Given the description of an element on the screen output the (x, y) to click on. 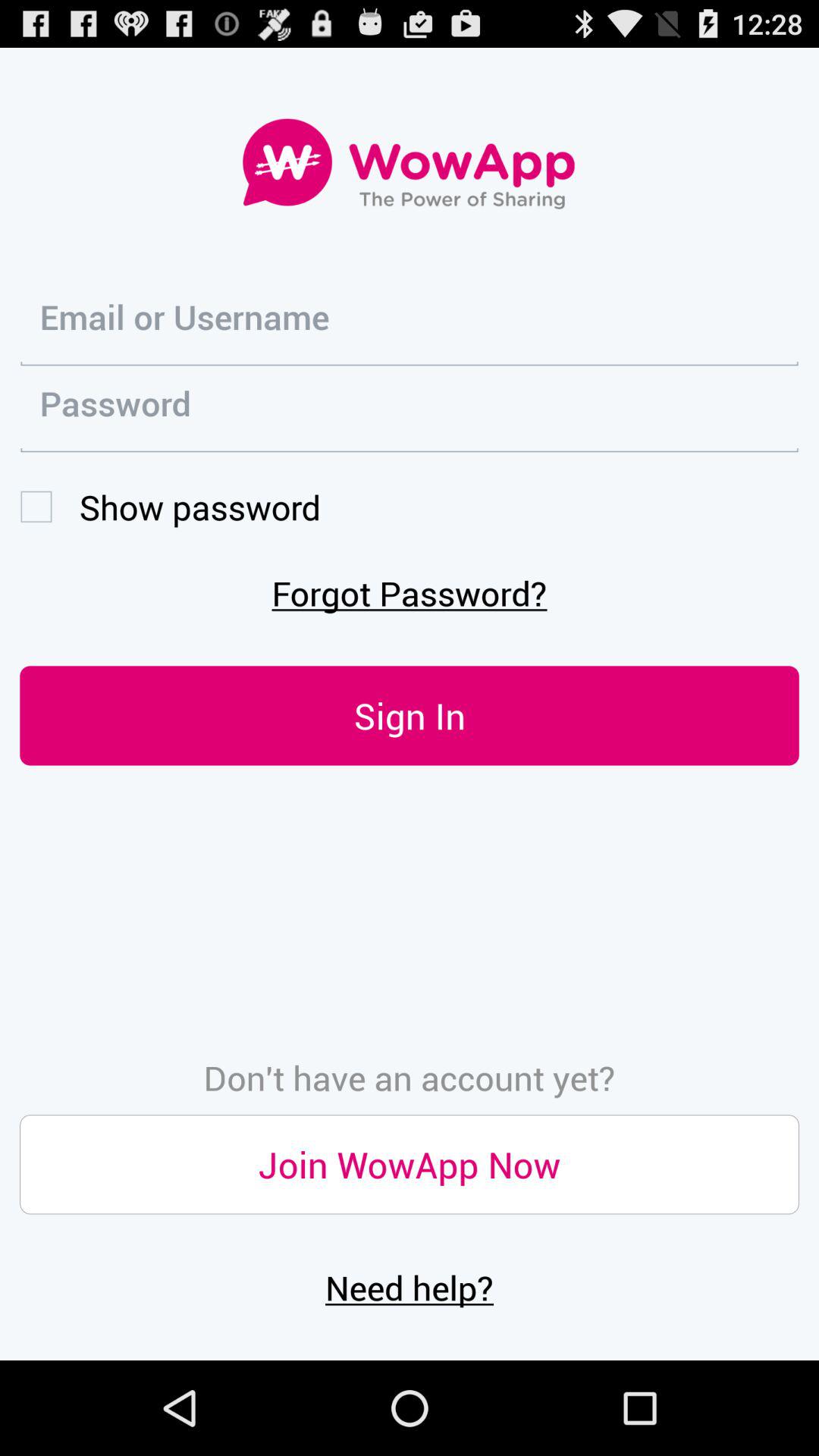
turn off sign in item (409, 715)
